Given the description of an element on the screen output the (x, y) to click on. 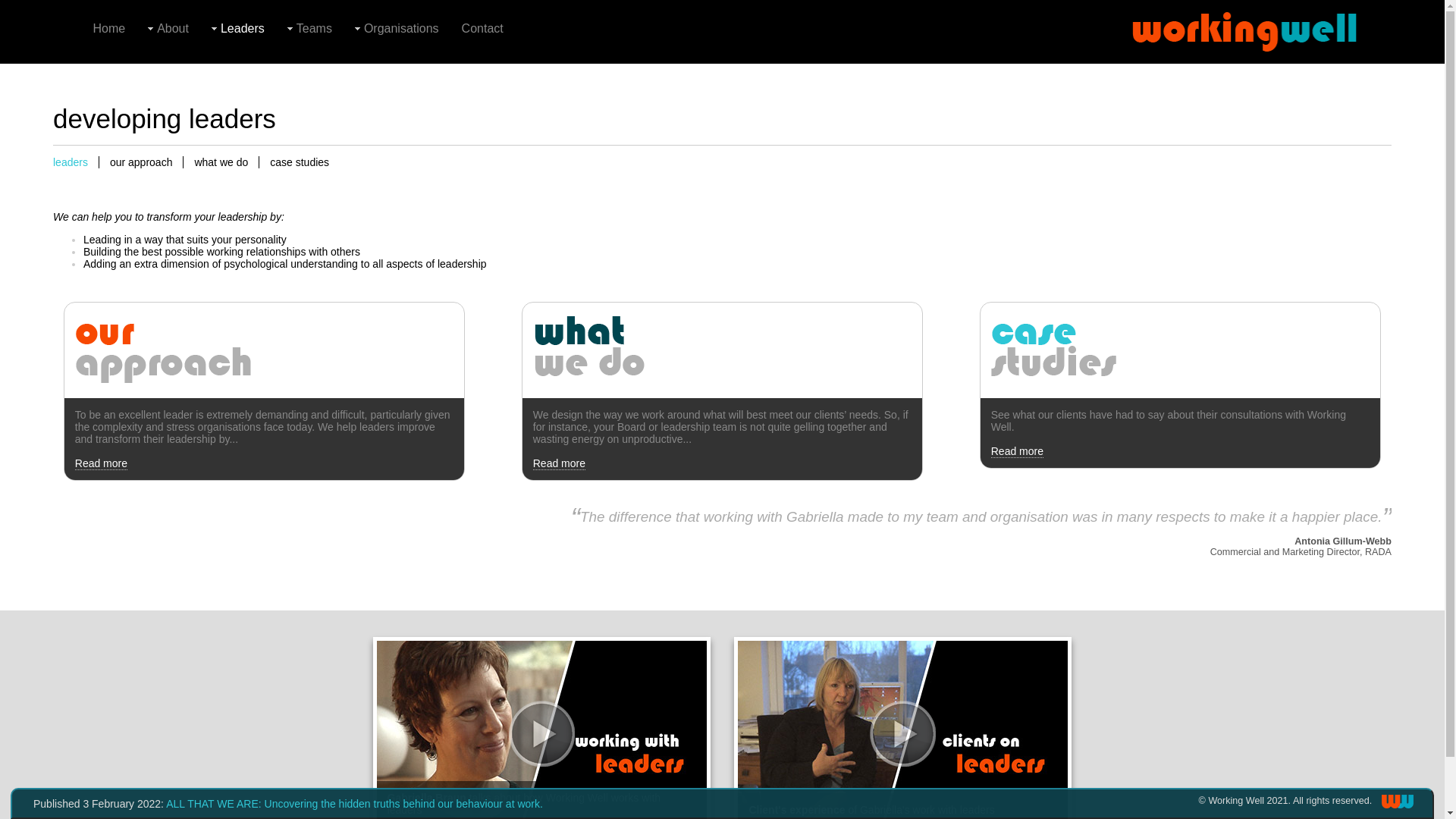
what we do Element type: text (221, 162)
Leaders Element type: text (238, 28)
Read more Element type: text (559, 462)
About Element type: text (168, 28)
Contact Element type: text (482, 28)
Read more Element type: text (101, 462)
Teams Element type: text (309, 28)
Home Element type: text (108, 28)
case studies Element type: text (299, 162)
Organisations Element type: text (396, 28)
Read more Element type: text (1017, 450)
our approach Element type: text (141, 162)
leaders Element type: text (76, 162)
